Given the description of an element on the screen output the (x, y) to click on. 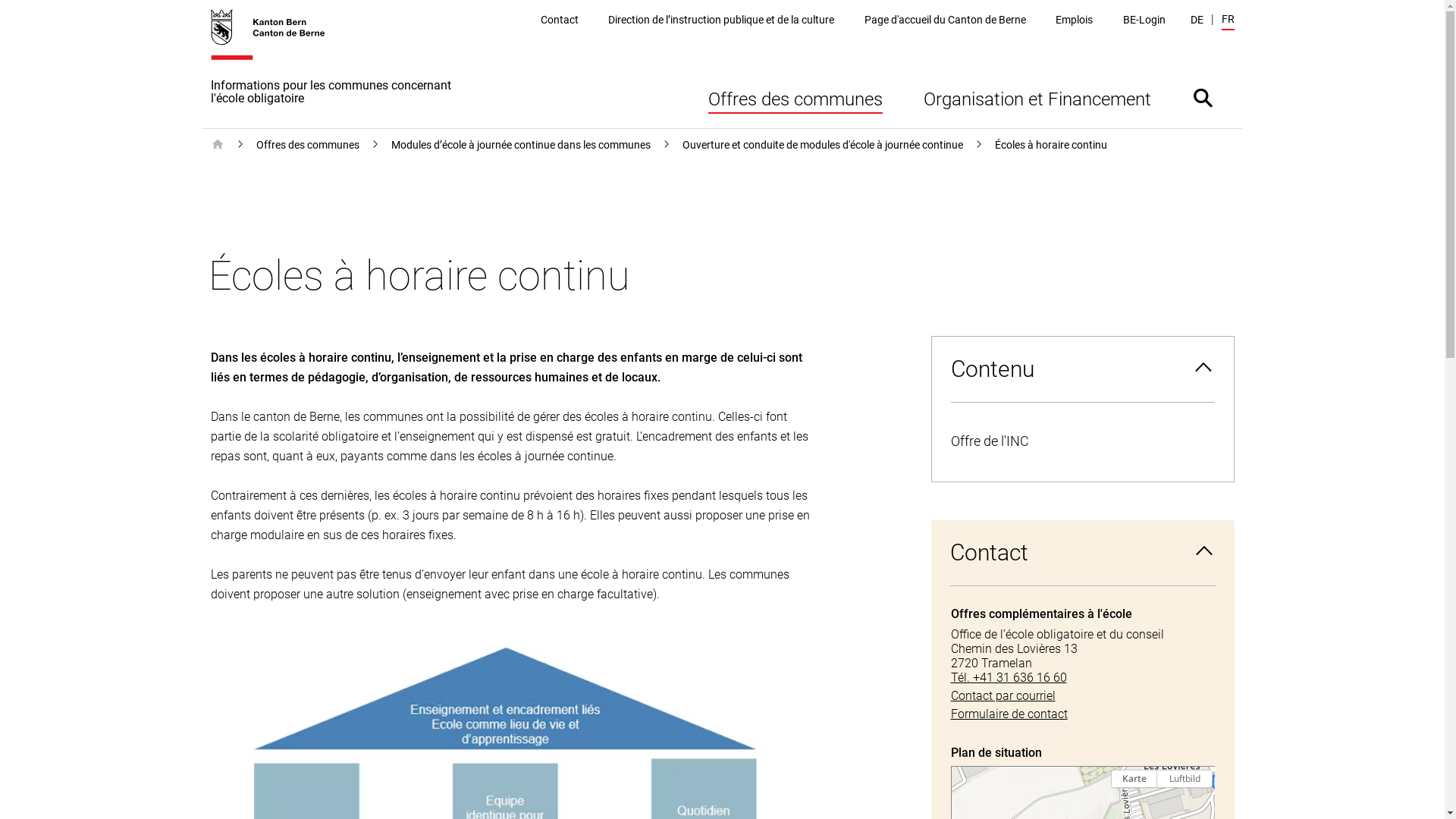
Organisation et Financement Element type: text (1036, 96)
Formulaire de contact Element type: text (1082, 713)
Offres des communes Element type: text (307, 144)
Afficher/masquer la barre de recherche Element type: text (1201, 96)
Emplois Element type: text (1073, 19)
Contact Element type: text (559, 19)
Offre de l'INC Element type: text (1082, 441)
Contact Element type: text (1082, 552)
Offres des communes Element type: text (794, 96)
Contenu Element type: text (1082, 368)
DE Element type: text (1196, 19)
Contact par courriel Element type: text (1082, 695)
Page d'accueil du Canton de Berne Element type: text (945, 19)
BE-Login Element type: text (1144, 19)
FR Element type: text (1226, 21)
